Given the description of an element on the screen output the (x, y) to click on. 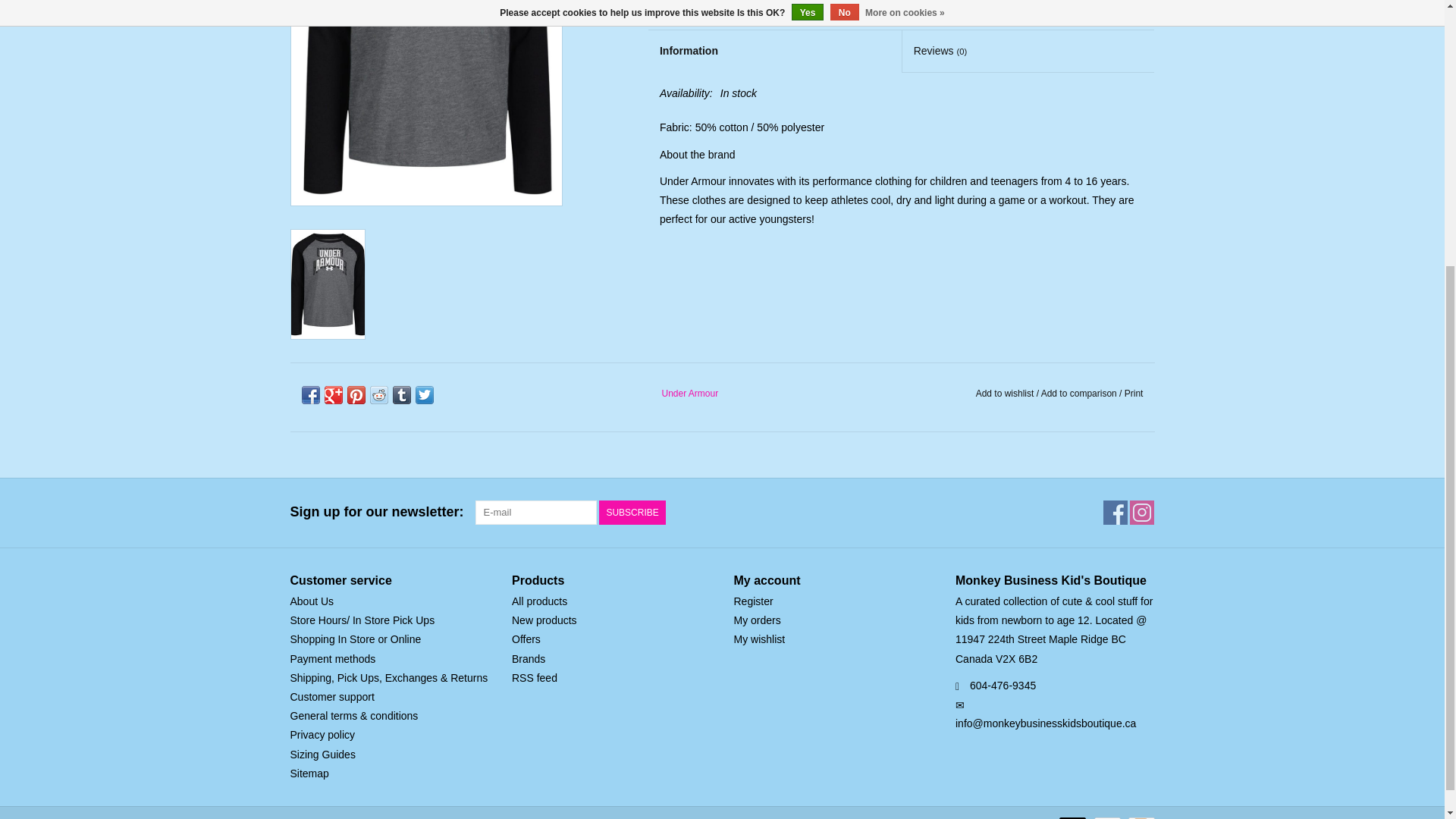
1 (999, 3)
